Given the description of an element on the screen output the (x, y) to click on. 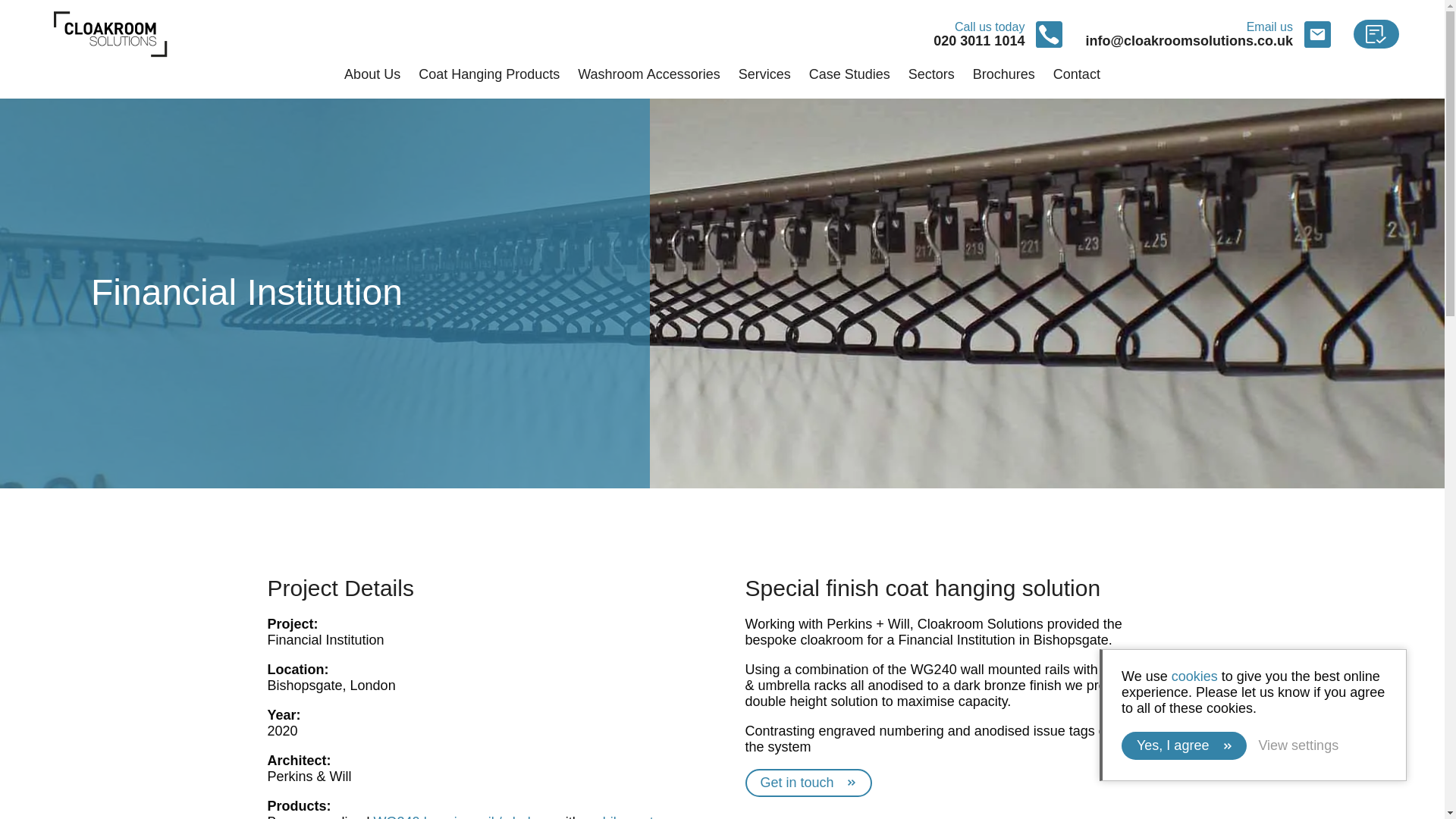
Sectors (931, 75)
Washroom Accessories (648, 75)
Services (764, 75)
Brochures (1003, 75)
Cloakroom Solutions (111, 33)
About Us (371, 75)
Coat Hanging Products (488, 75)
Case Studies (849, 75)
